Given the description of an element on the screen output the (x, y) to click on. 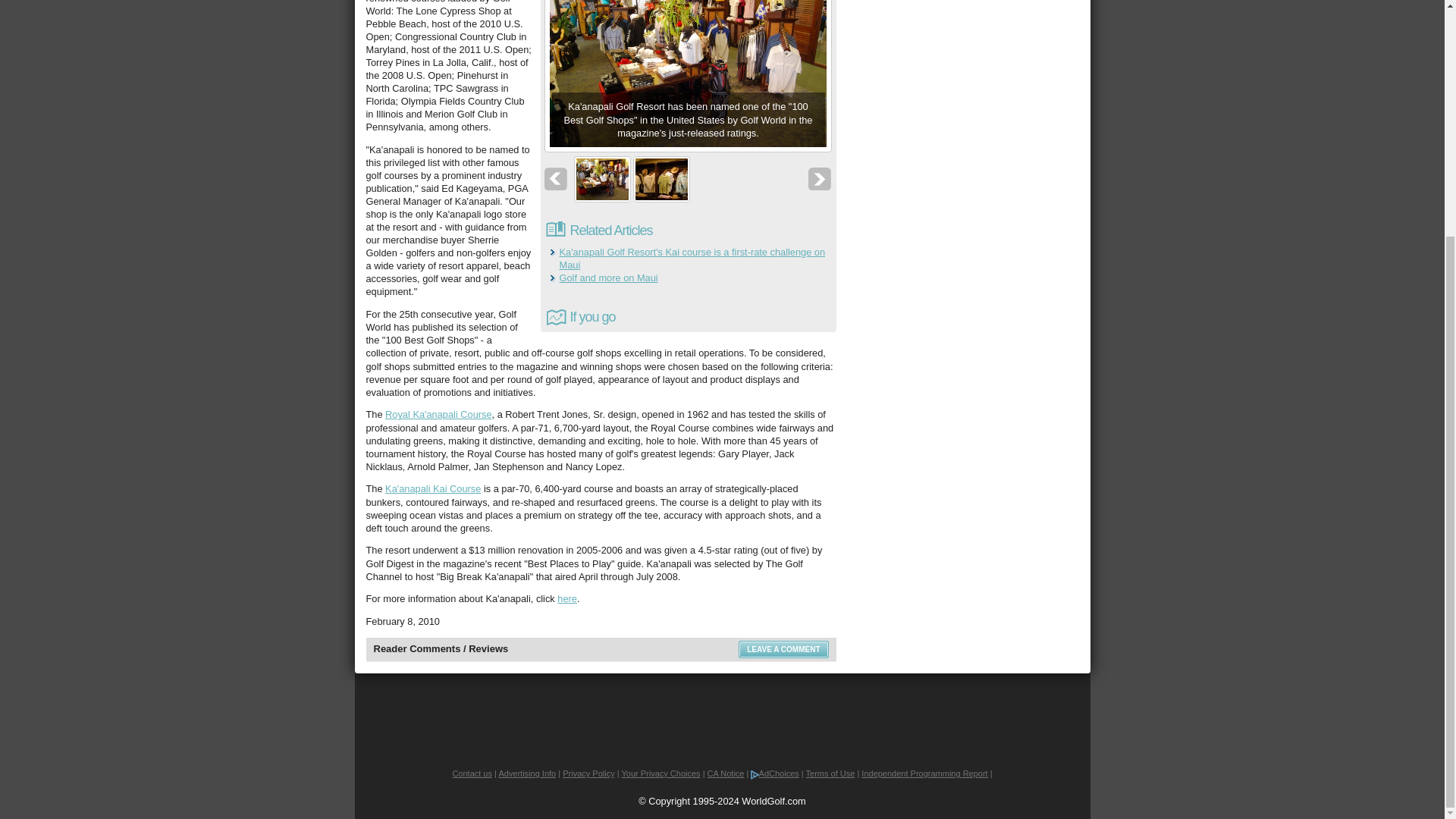
Terms of Use (831, 773)
AdChoices (774, 773)
3rd party ad content (721, 718)
Contact us (471, 773)
CA Notice (725, 773)
Advertising Info (526, 773)
Royal Ka'anapali Course (438, 414)
Your Privacy Choices (660, 773)
3rd party ad content (964, 15)
